Given the description of an element on the screen output the (x, y) to click on. 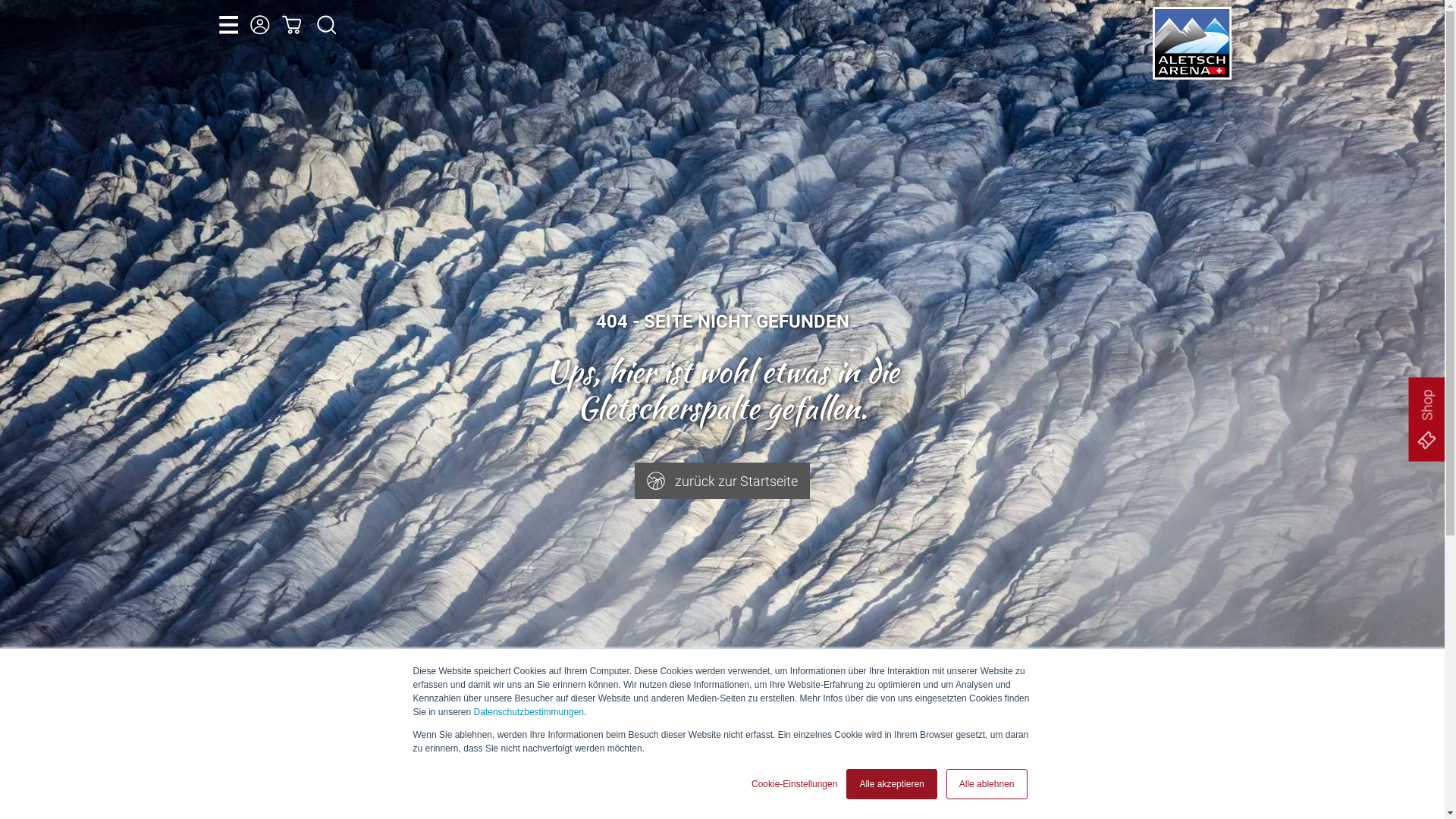
Alle akzeptieren Element type: text (891, 783)
Suche Element type: hover (326, 24)
Datenschutzbestimmungen Element type: text (528, 711)
Cookie-Einstellungen Element type: text (794, 783)
Alle ablehnen Element type: text (986, 783)
